Given the description of an element on the screen output the (x, y) to click on. 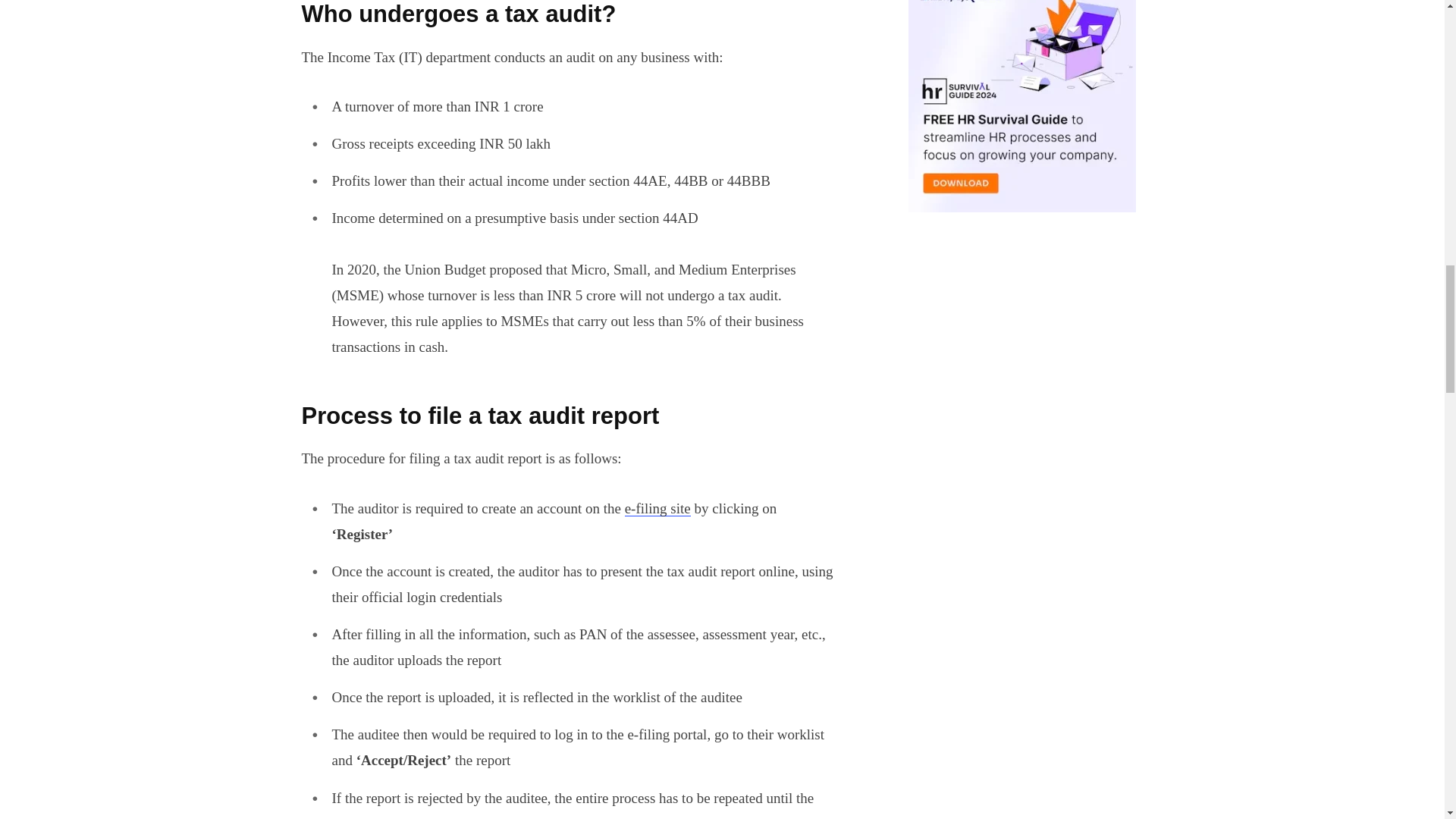
e-filing site (657, 508)
